Given the description of an element on the screen output the (x, y) to click on. 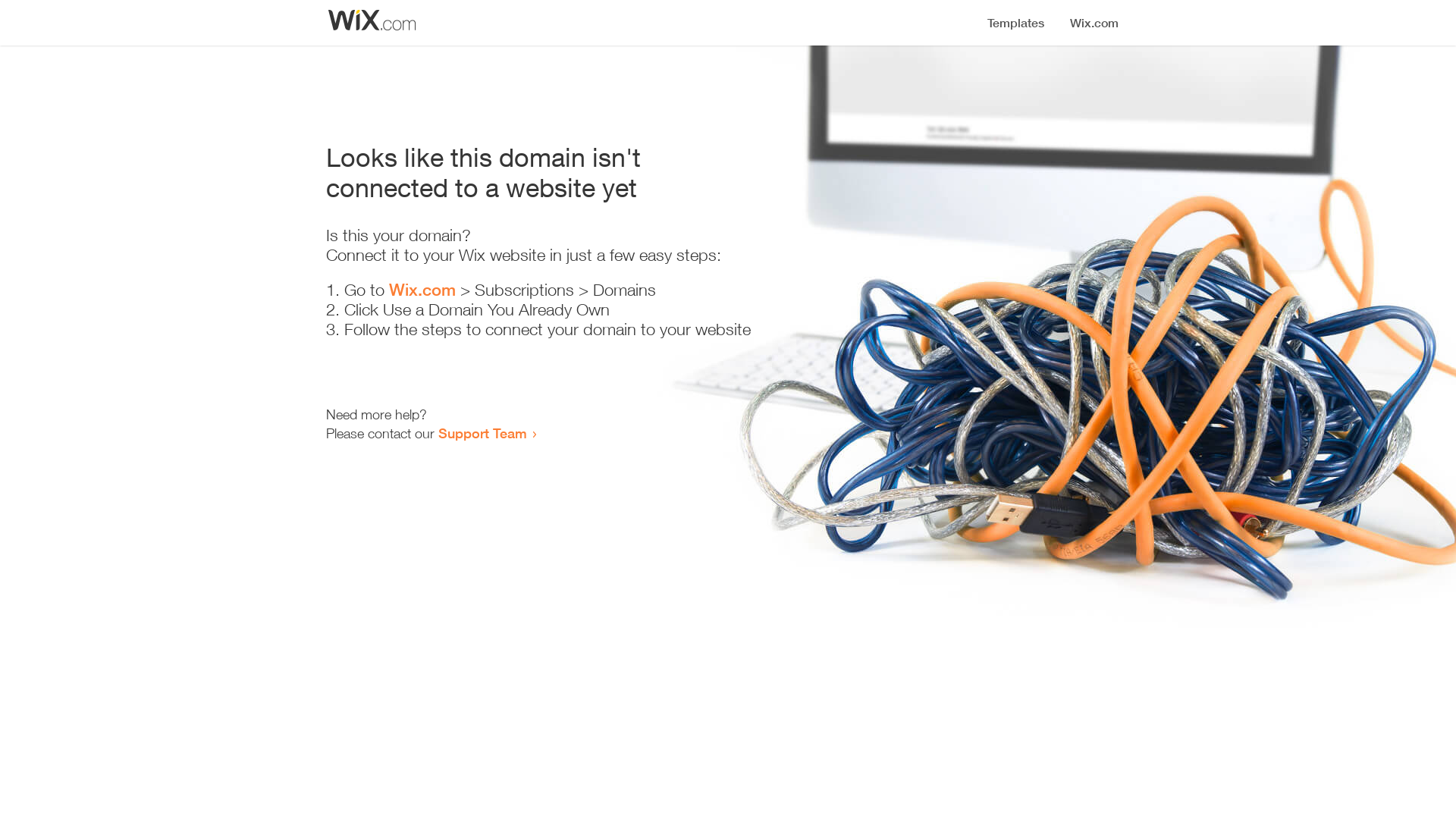
Wix.com Element type: text (422, 289)
Support Team Element type: text (482, 432)
